Given the description of an element on the screen output the (x, y) to click on. 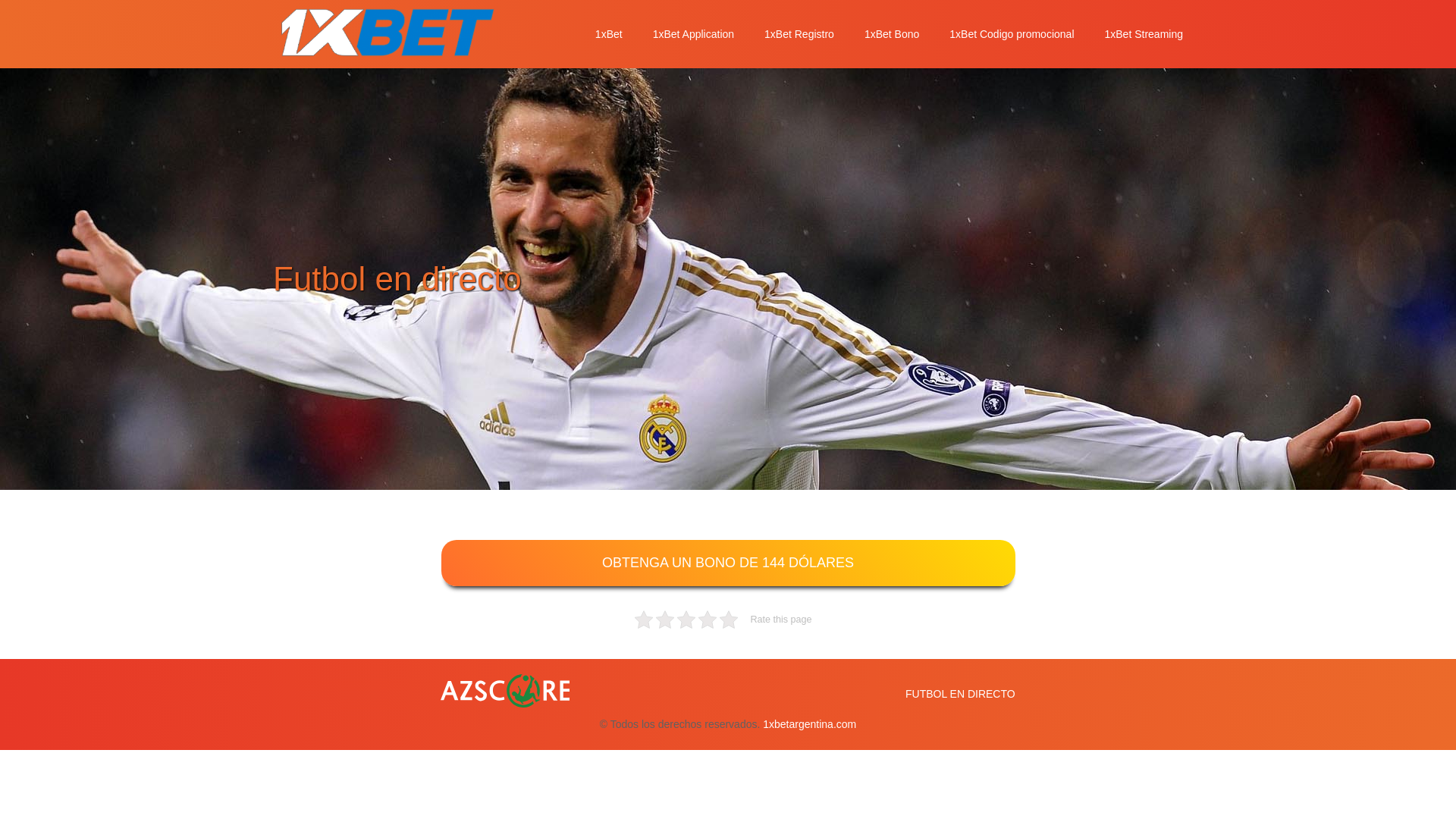
1xBet Codigo promocional Element type: text (1011, 34)
1xbetargentina.com Element type: text (809, 724)
1xBet Bono Element type: text (891, 34)
1xBet Element type: text (608, 34)
1xBet Streaming Element type: text (1143, 34)
FUTBOL EN DIRECTO Element type: text (960, 694)
1xBet Registro Element type: text (799, 34)
1xBet Application Element type: text (693, 34)
